Given the description of an element on the screen output the (x, y) to click on. 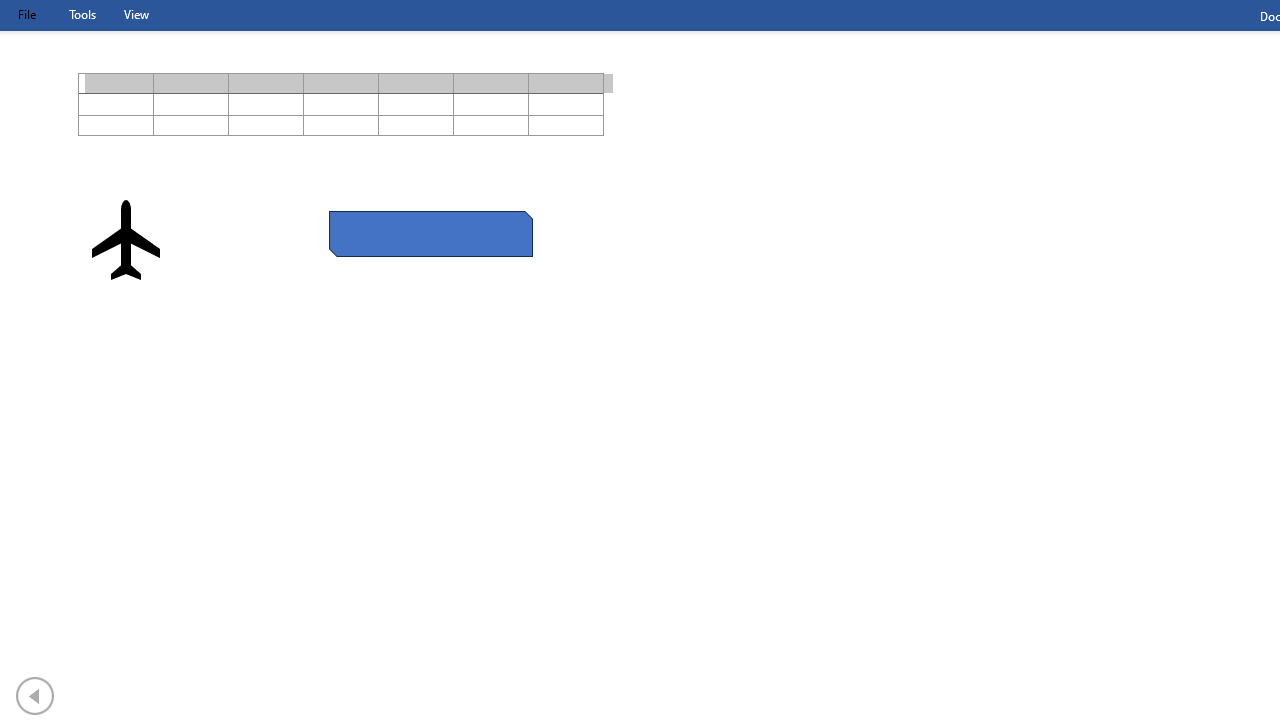
System (10, 11)
Tools (82, 14)
Rectangle: Diagonal Corners Snipped 2 (430, 233)
View (136, 14)
File Tab (26, 14)
System (10, 11)
Airplane with solid fill (126, 240)
